Given the description of an element on the screen output the (x, y) to click on. 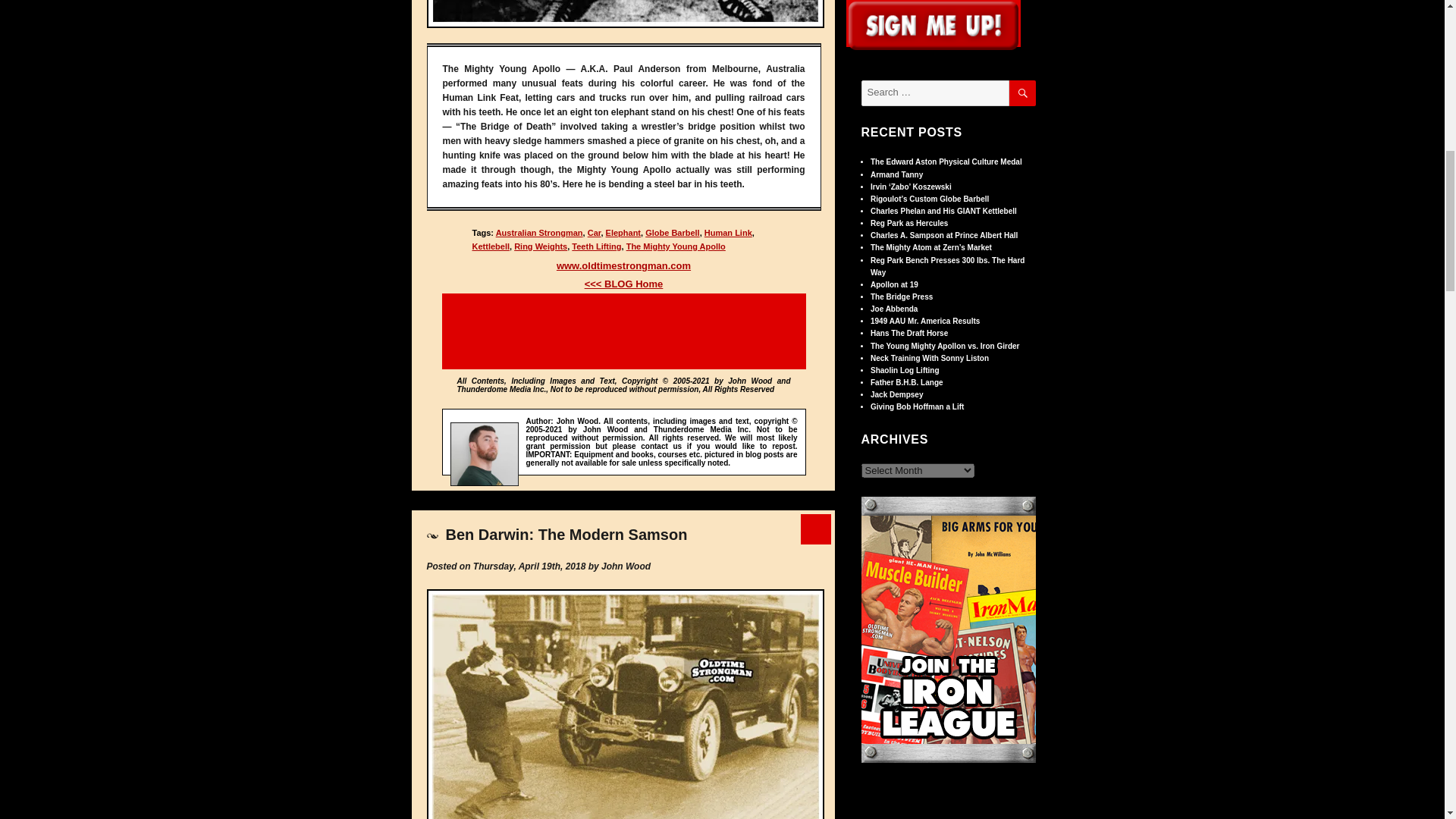
Globe Barbell (672, 232)
Elephant (622, 232)
The Young Mighty Apollon vs. Iron Girder (944, 346)
Reg Park as Hercules (908, 223)
Armand Tanny (896, 174)
Apollon at 19 (894, 284)
SEARCH (1022, 93)
The Mighty Young Apollo (675, 245)
Reg Park Bench Presses 300 lbs. The Hard Way (947, 266)
The Edward Aston Physical Culture Medal (946, 162)
